Given the description of an element on the screen output the (x, y) to click on. 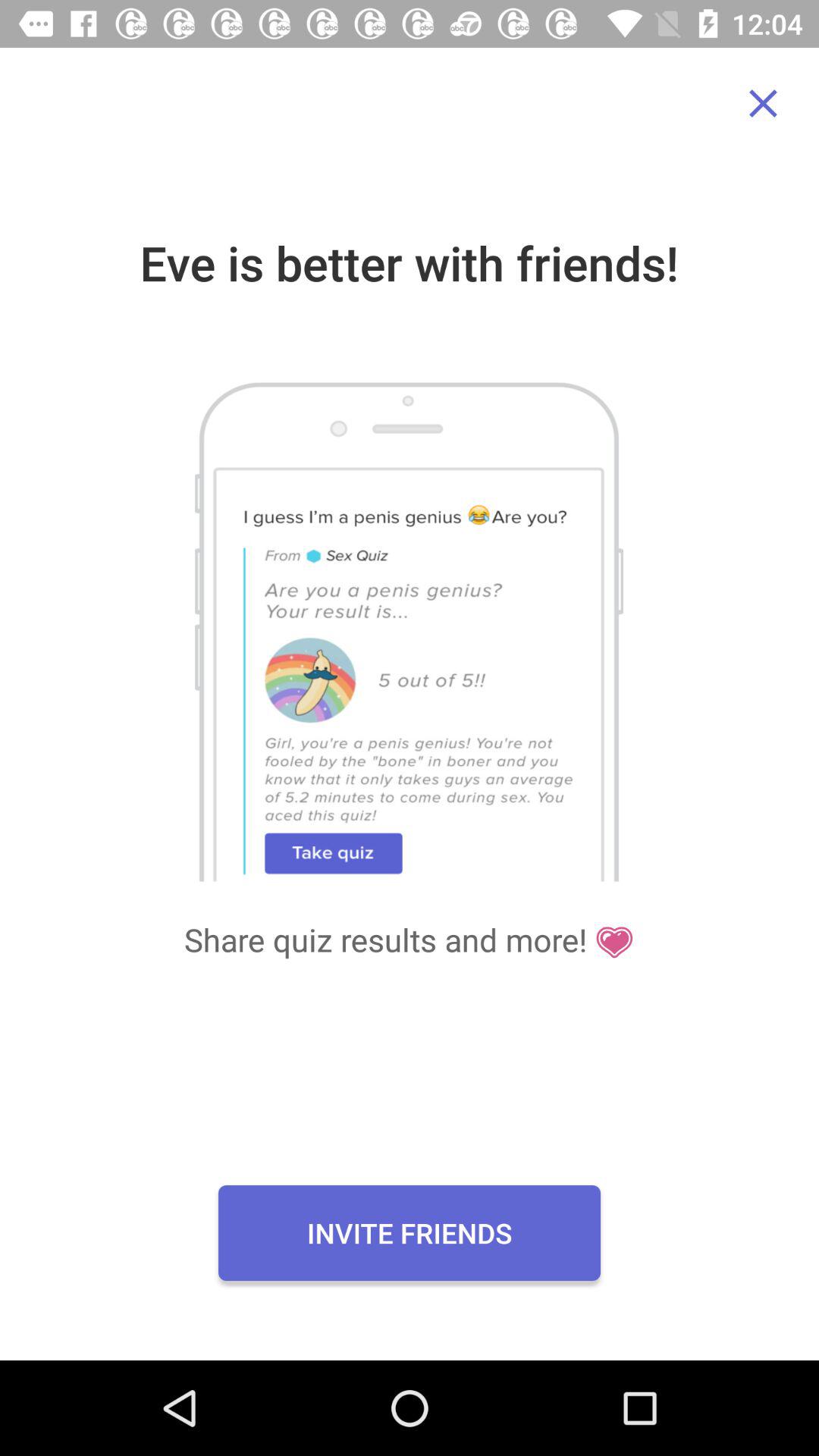
close the window (763, 103)
